Given the description of an element on the screen output the (x, y) to click on. 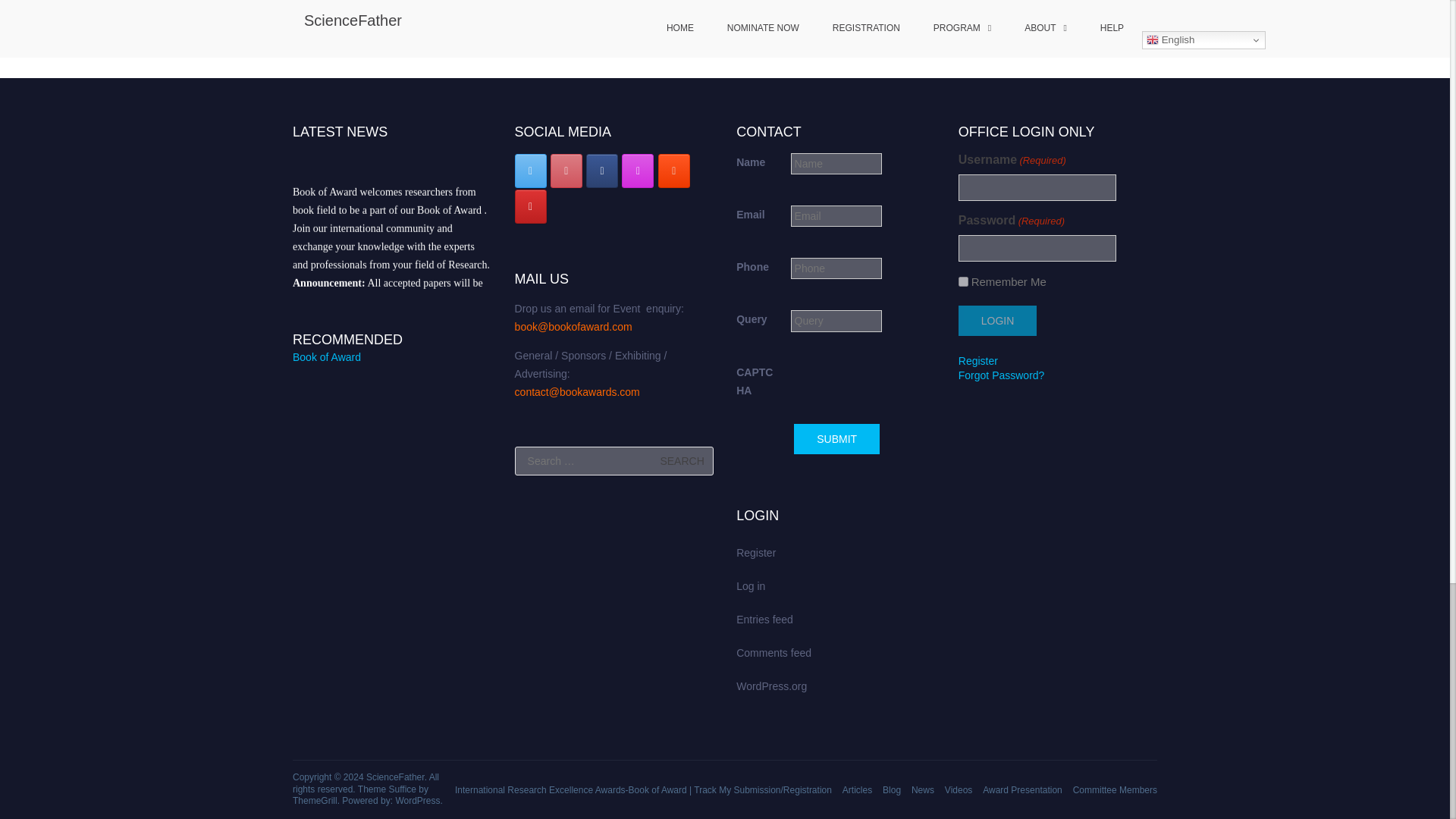
Login (997, 711)
Submit (779, 816)
Search (681, 767)
Forgot Password? (1001, 766)
1 (963, 672)
Search (681, 767)
Register (977, 751)
